Given the description of an element on the screen output the (x, y) to click on. 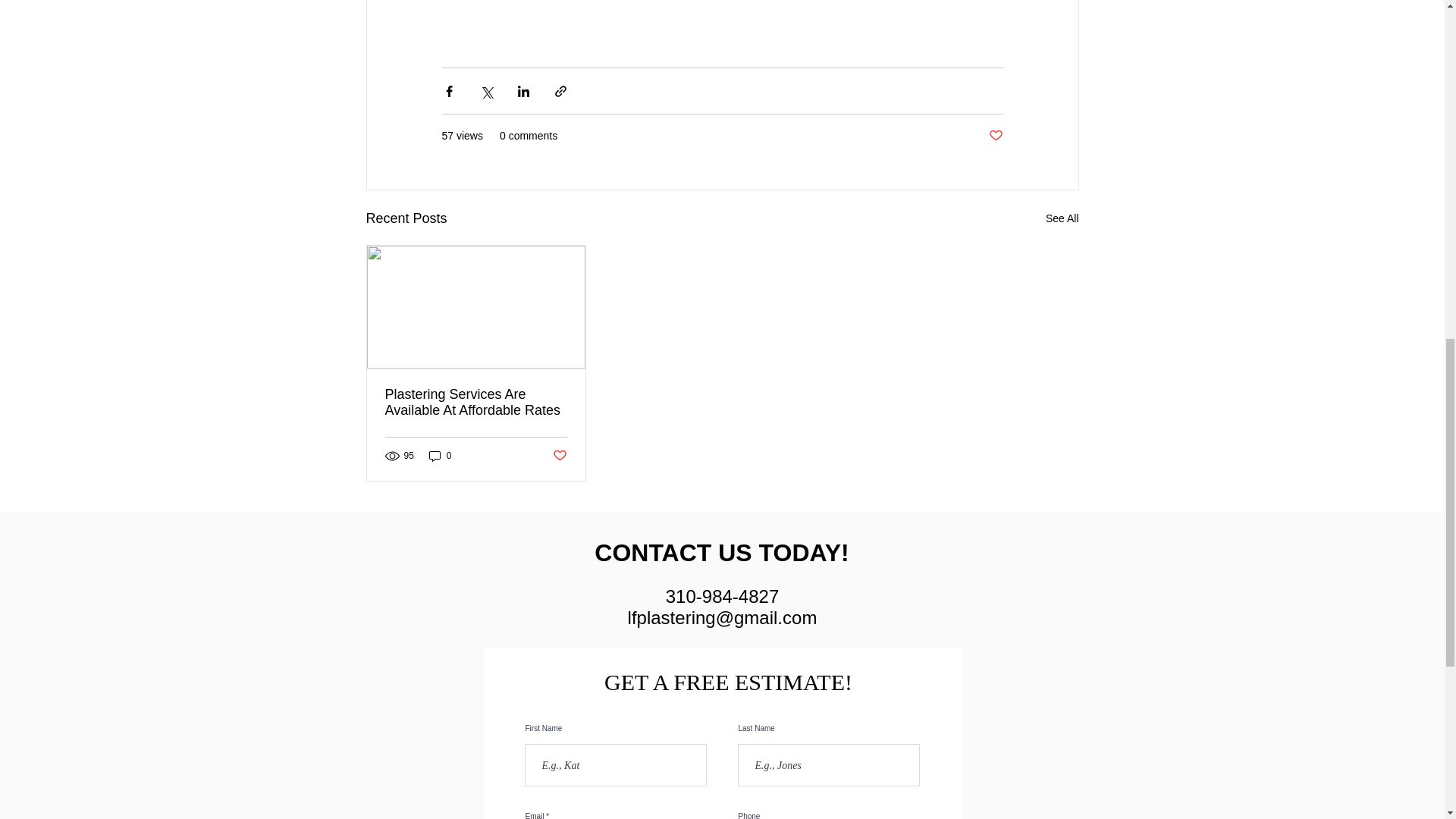
Post not marked as liked (995, 135)
Plastering Services Are Available At Affordable Rates (476, 402)
310-984-4827 (721, 596)
Post not marked as liked (558, 455)
0 (440, 455)
See All (1061, 219)
